Given the description of an element on the screen output the (x, y) to click on. 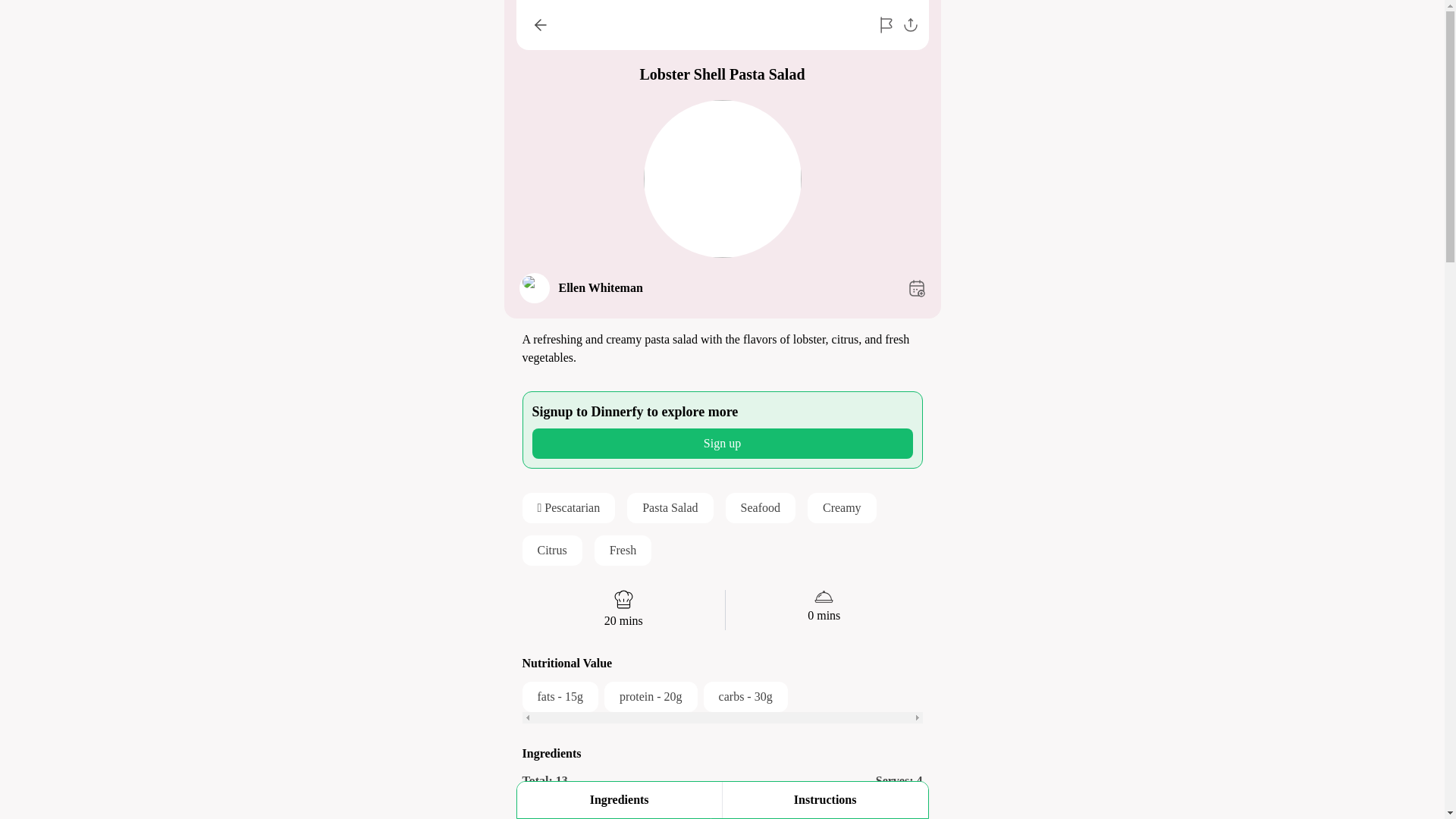
Instructions (721, 781)
Sign up (825, 800)
Ingredients (722, 443)
